Given the description of an element on the screen output the (x, y) to click on. 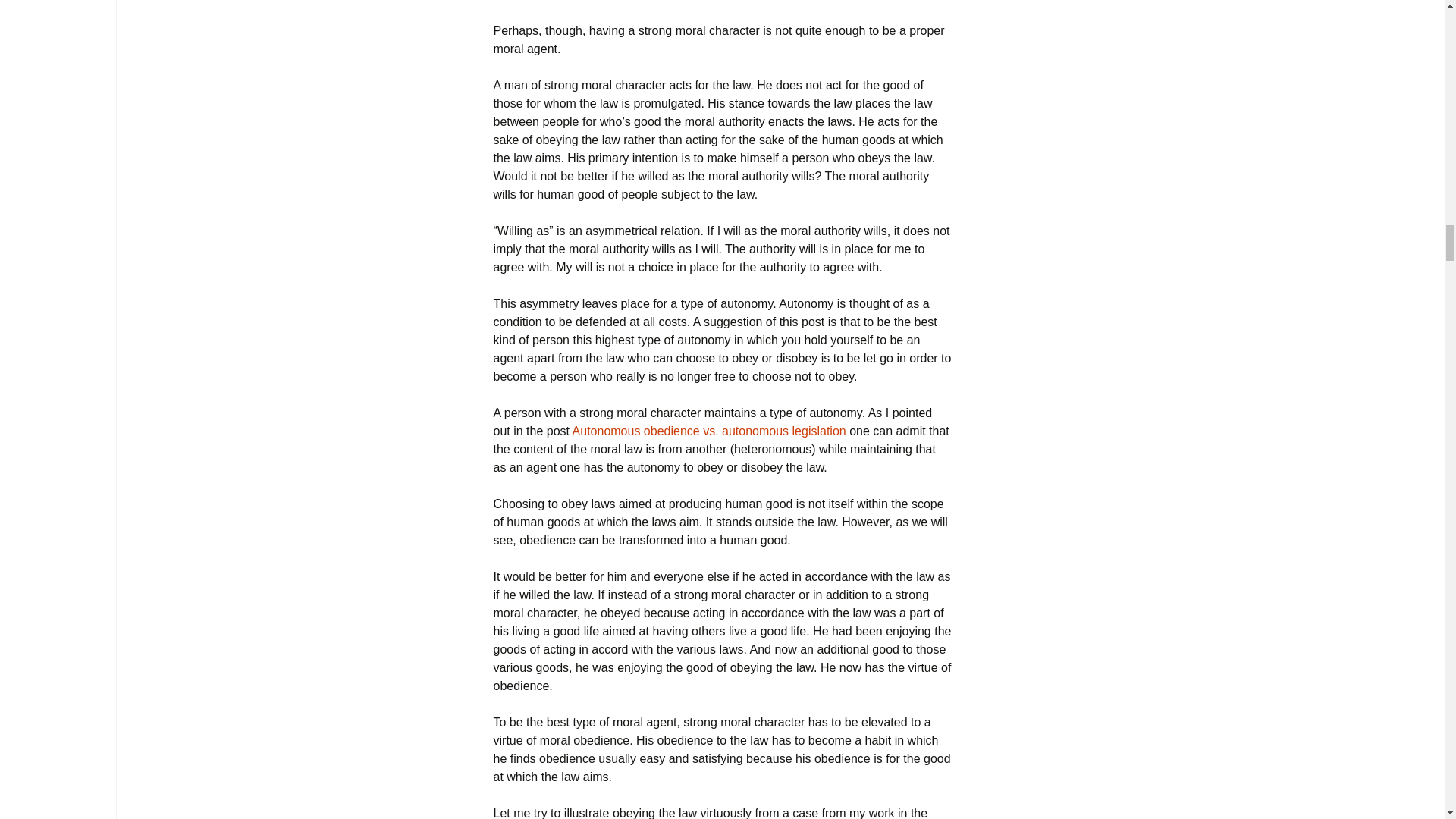
Autonomous obedience vs. autonomous legislation (708, 431)
